Given the description of an element on the screen output the (x, y) to click on. 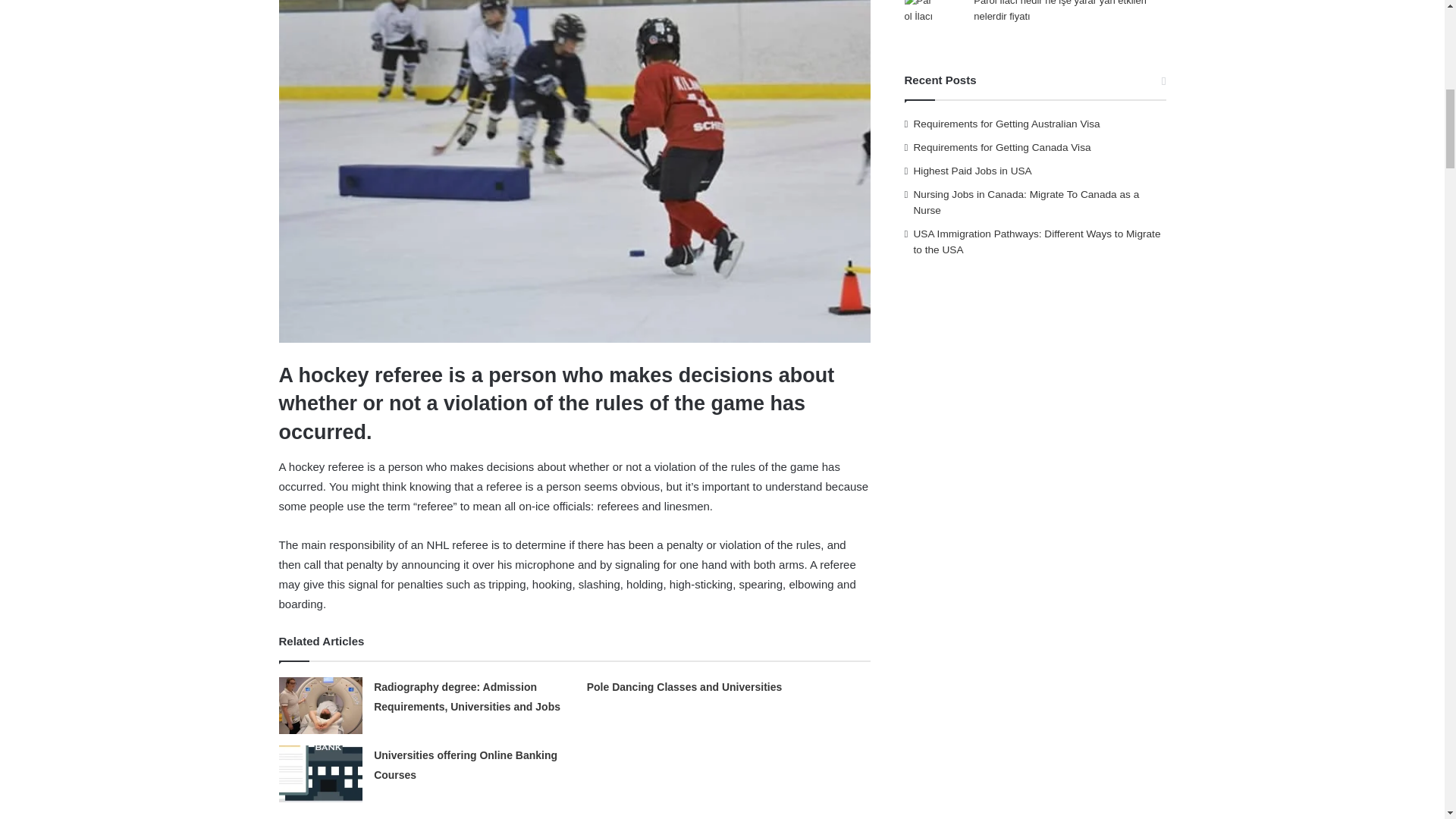
Pole Dancing Classes and Universities (684, 686)
Universities offering Online Banking Courses (465, 765)
